Given the description of an element on the screen output the (x, y) to click on. 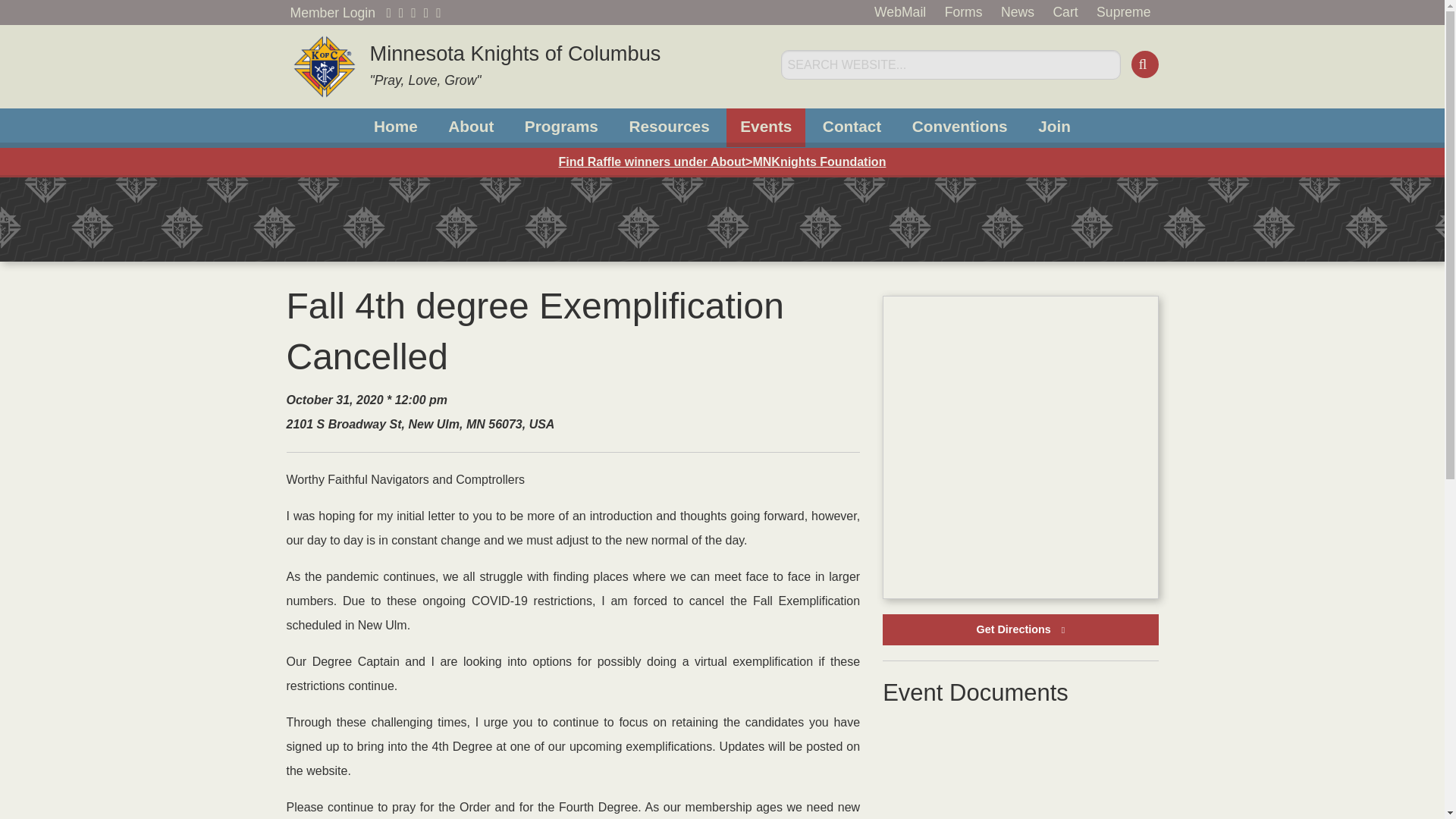
Programs (561, 127)
Forms (963, 12)
Member Login (332, 12)
Cart (498, 66)
News (1064, 12)
About (1017, 12)
Member Login (469, 127)
Supreme (332, 12)
Home (1123, 12)
WebMail (394, 127)
Minnesota Knights of Columbus (899, 12)
